Given the description of an element on the screen output the (x, y) to click on. 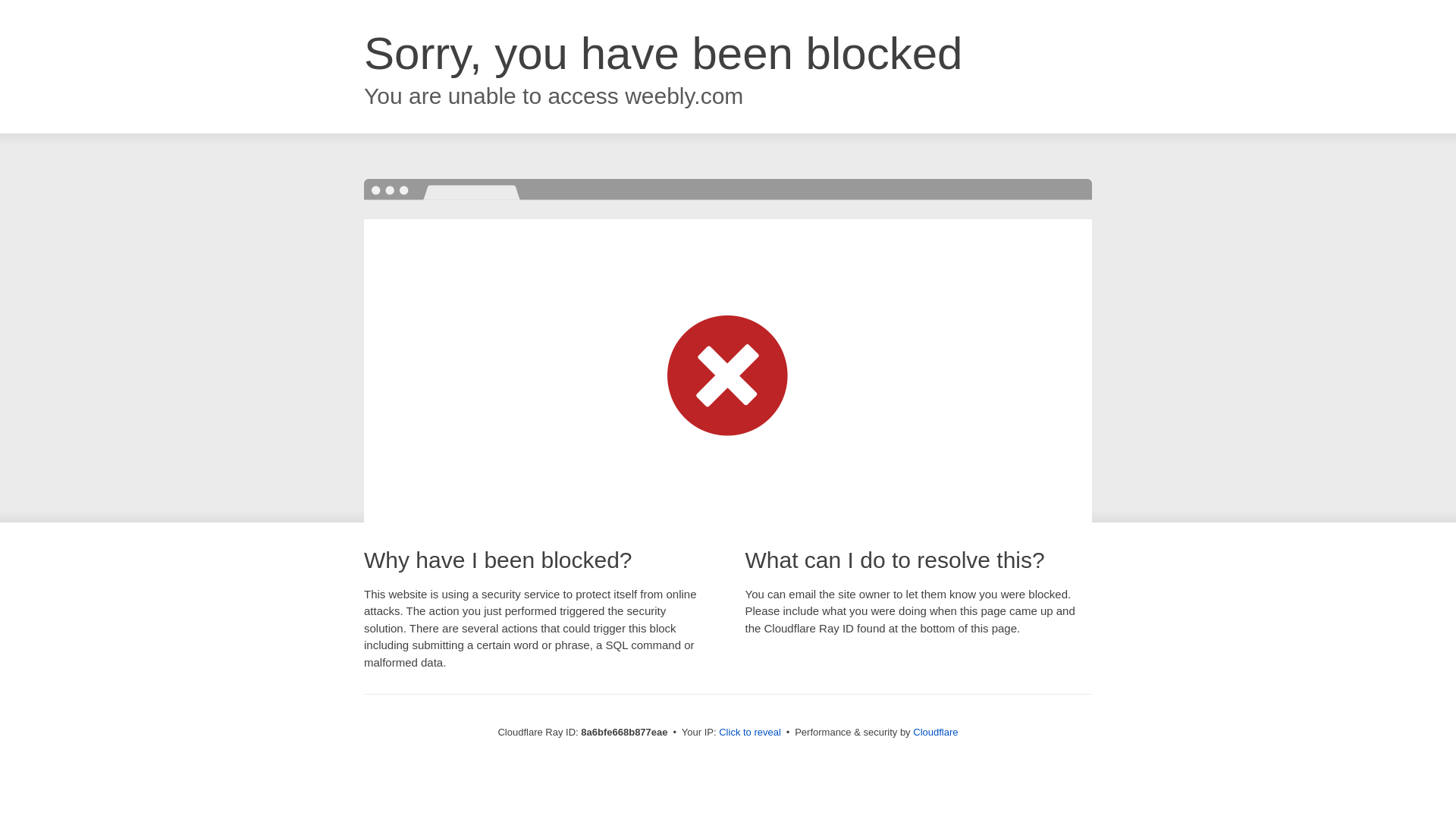
Click to reveal (749, 732)
Cloudflare (935, 731)
